Given the description of an element on the screen output the (x, y) to click on. 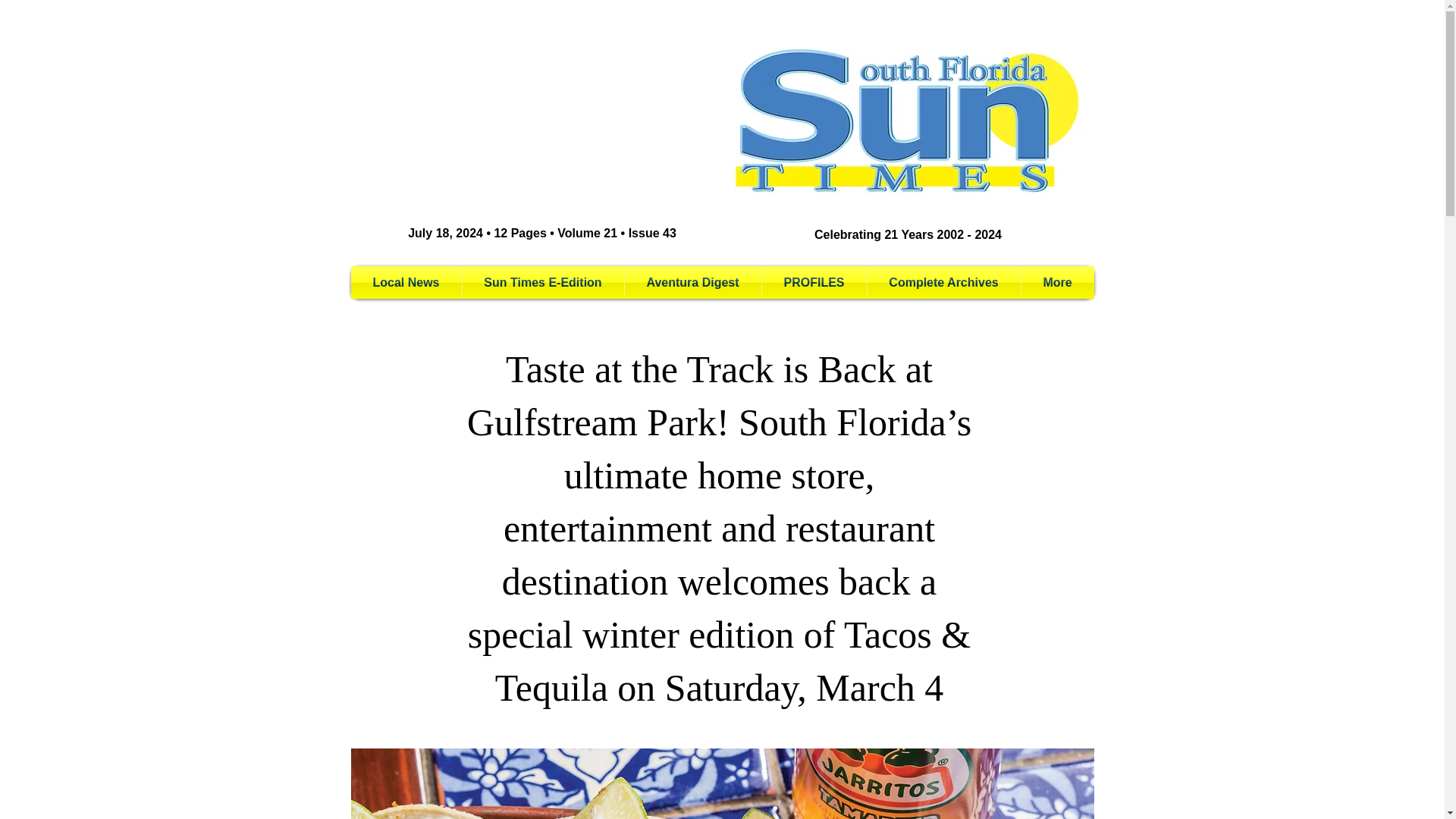
Complete Archives (943, 282)
Sun Times E-Edition (543, 282)
PROFILES (813, 282)
Aventura Digest (692, 282)
Sun Times Logo.jpg (908, 121)
Local News (405, 282)
